Given the description of an element on the screen output the (x, y) to click on. 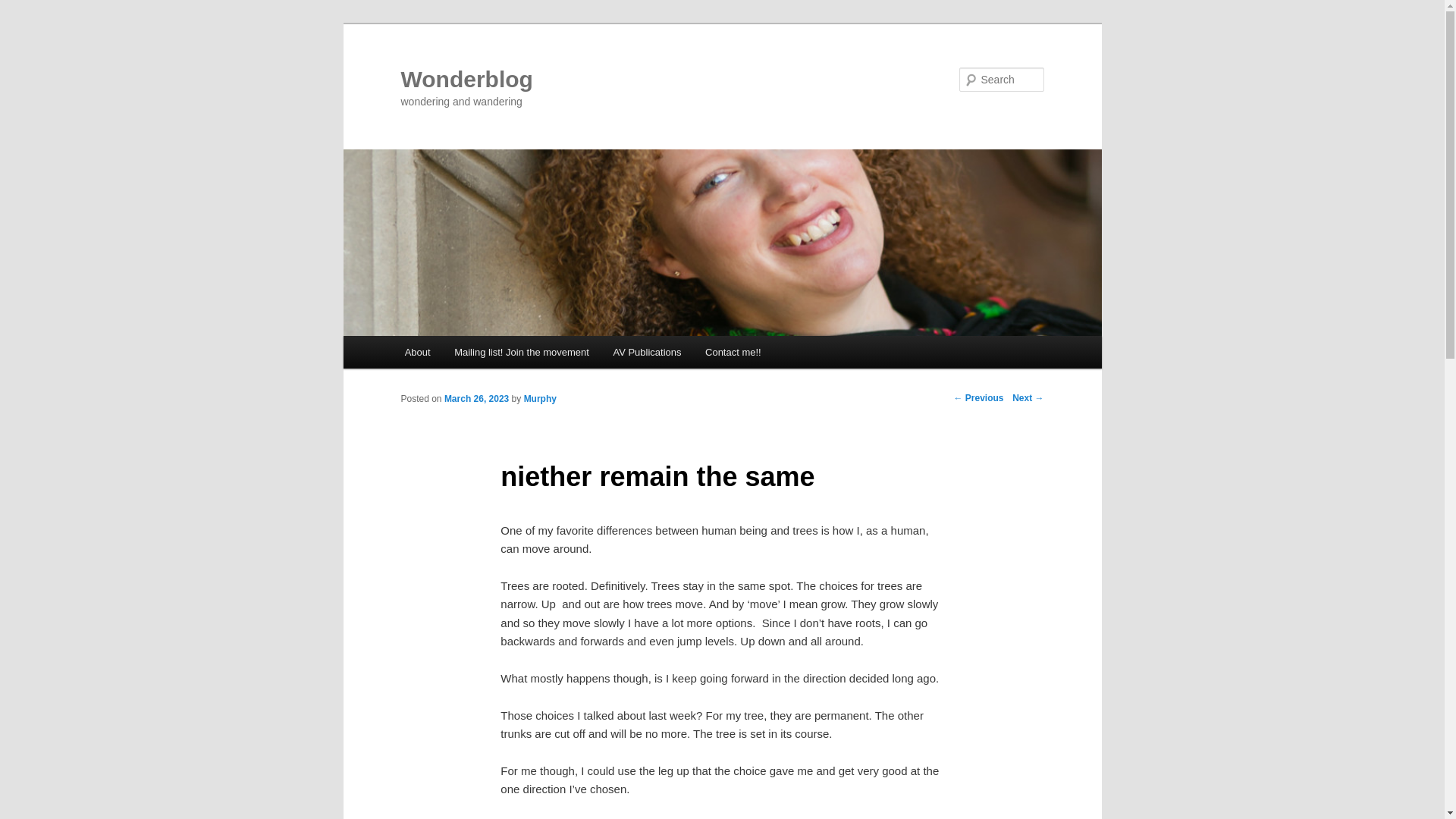
View all posts by Murphy (540, 398)
Search (24, 8)
Wonderblog (466, 78)
Skip to primary content (472, 354)
About (417, 351)
Mailing list! Join the movement (520, 351)
Skip to primary content (472, 354)
March 26, 2023 (476, 398)
Murphy (540, 398)
Skip to secondary content (479, 354)
Skip to secondary content (479, 354)
7:56 pm (476, 398)
Search (21, 11)
Contact me!! (733, 351)
Wonderblog (466, 78)
